Given the description of an element on the screen output the (x, y) to click on. 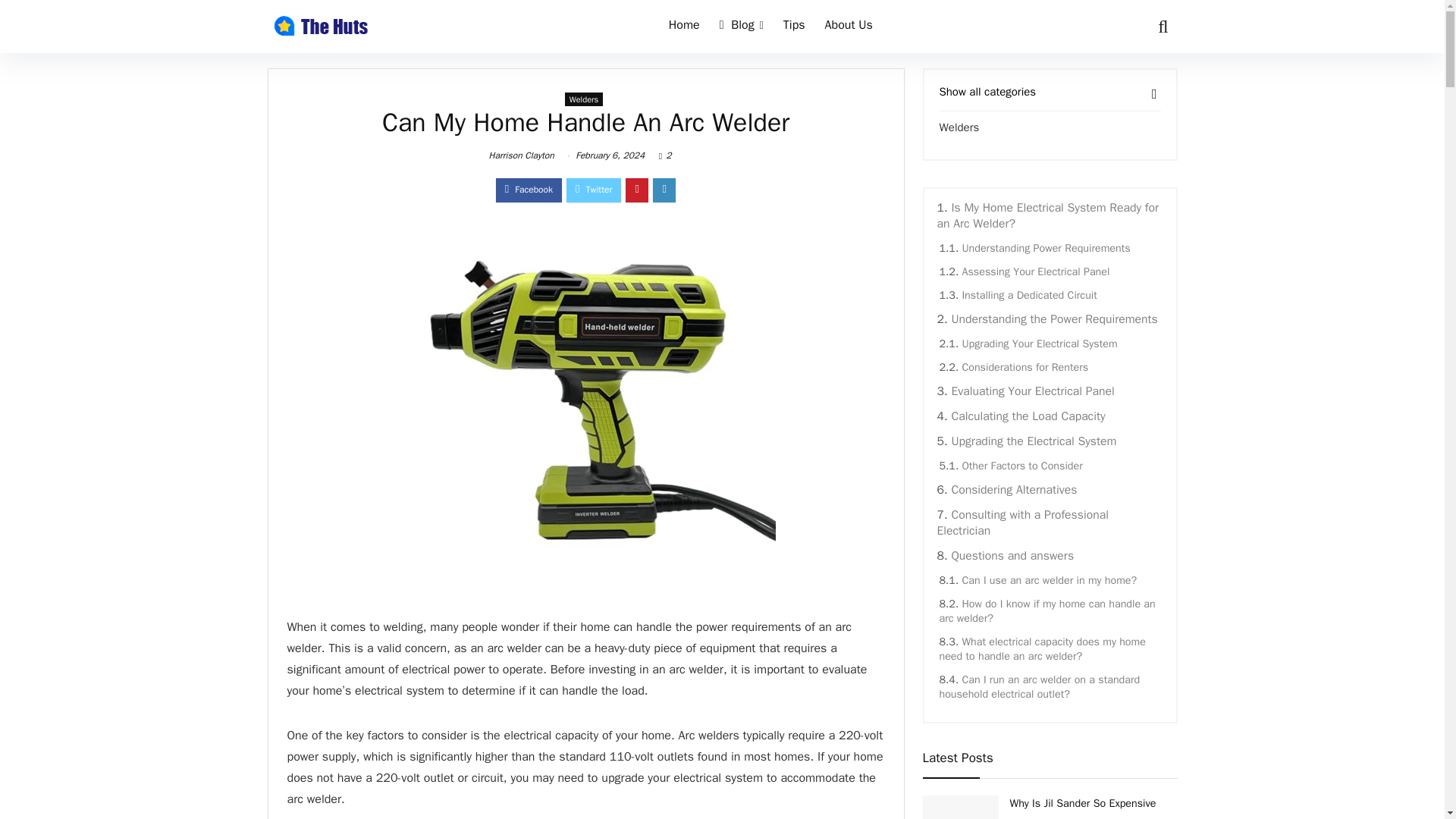
View all posts in Welders (584, 99)
About Us (848, 26)
Harrison Clayton (521, 155)
Welders (584, 99)
Blog (741, 26)
Tips (794, 26)
Home (684, 26)
